Given the description of an element on the screen output the (x, y) to click on. 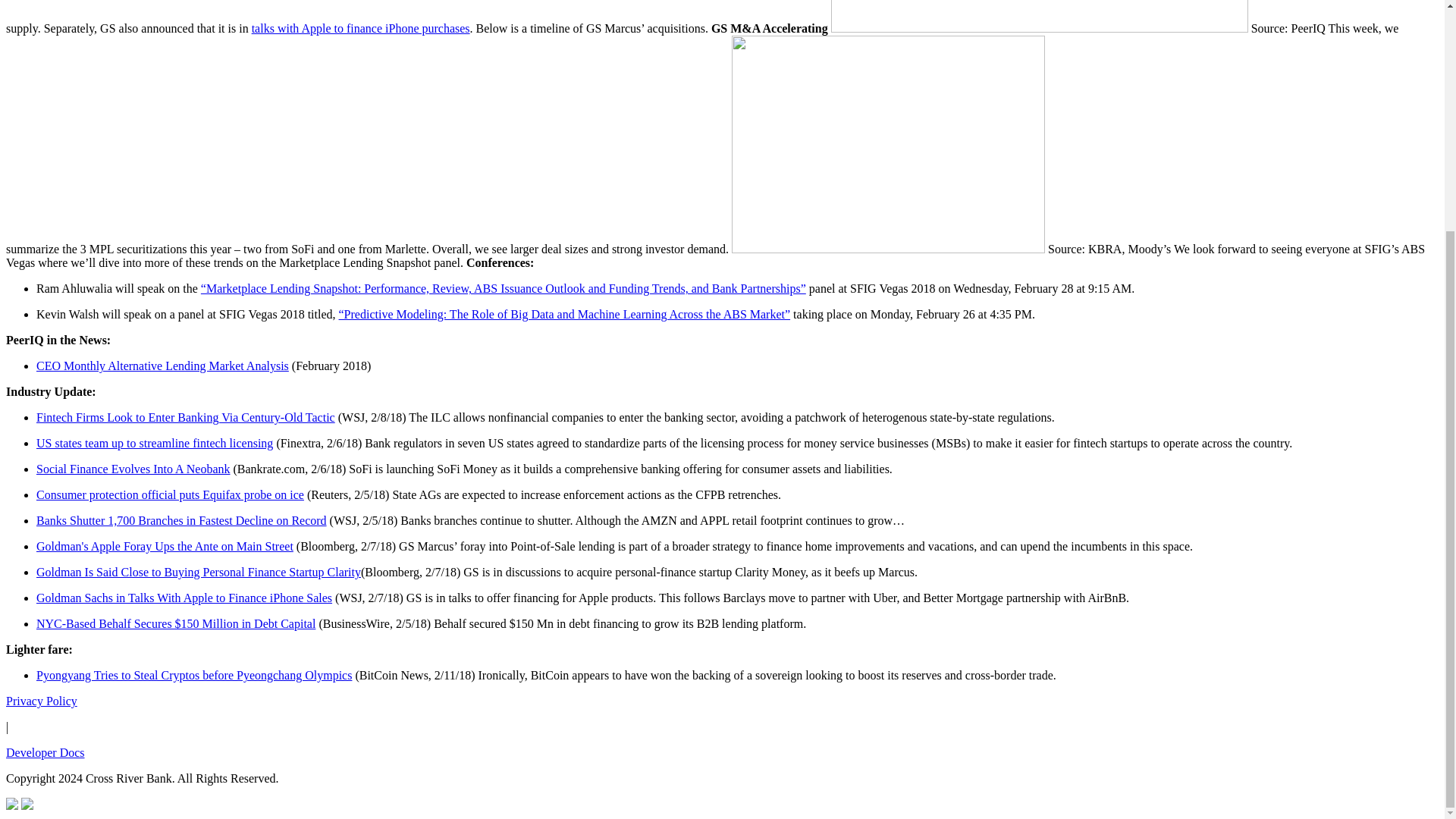
Social Finance Evolves Into A Neobank (133, 468)
Consumer protection official puts Equifax probe on ice (170, 494)
talks with Apple to finance iPhone purchases (360, 28)
Pyongyang Tries to Steal Cryptos before Pyeongchang Olympics (194, 675)
CEO Monthly Alternative Lending Market Analysis (162, 365)
Banks Shutter 1,700 Branches in Fastest Decline on Record (181, 520)
Developer Docs (44, 752)
US states team up to streamline fintech licensing (154, 442)
Goldman Sachs in Talks With Apple to Finance iPhone Sales (183, 597)
Fintech Firms Look to Enter Banking Via Century-Old Tactic (185, 417)
